Given the description of an element on the screen output the (x, y) to click on. 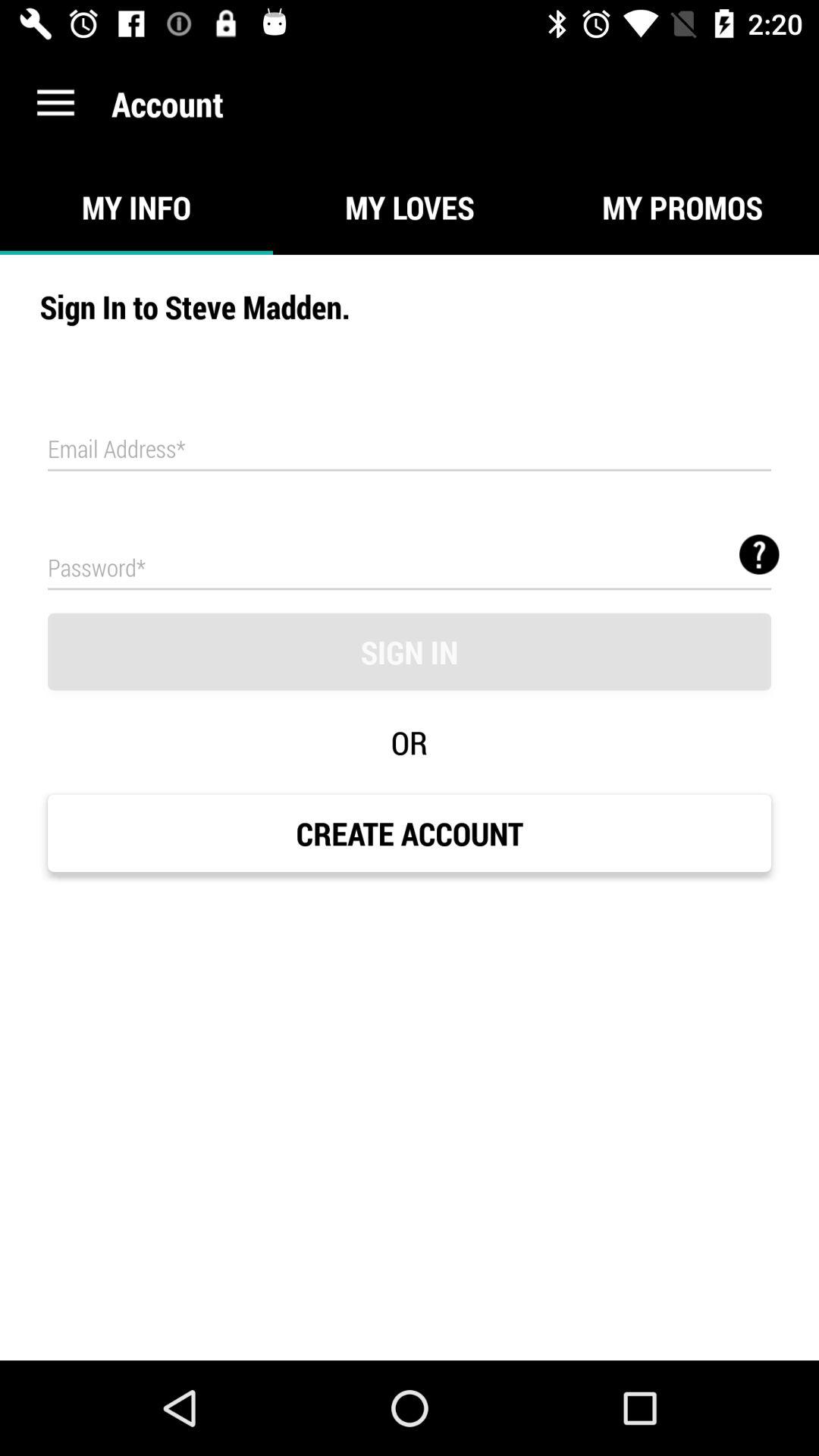
this helps to enter password (409, 566)
